Given the description of an element on the screen output the (x, y) to click on. 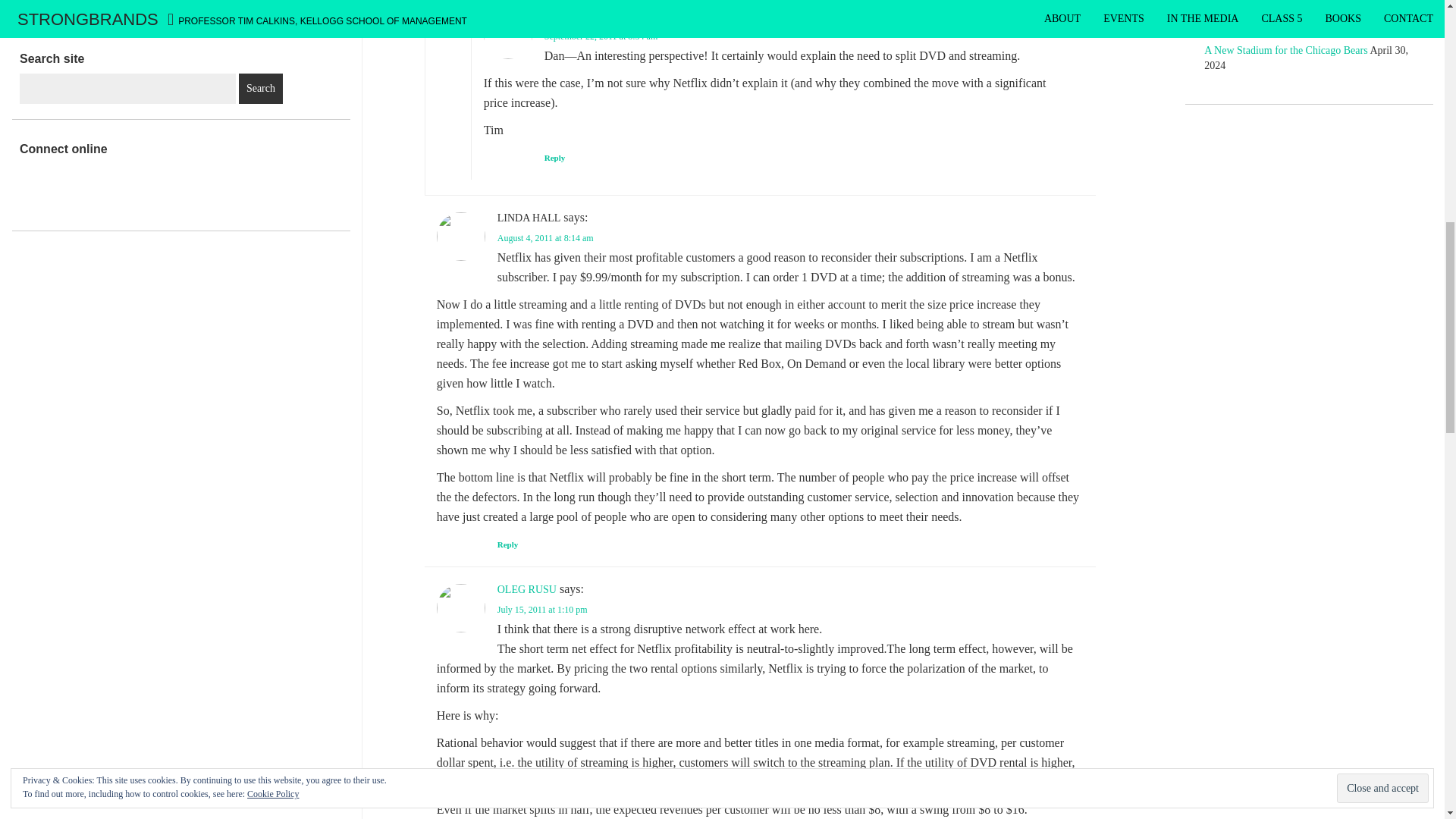
August 4, 2011 at 8:14 am (545, 237)
TIM CALKINS (578, 16)
Reply (507, 543)
Search (260, 88)
September 22, 2011 at 8:54 am (601, 36)
Reply (555, 157)
July 15, 2011 at 1:10 pm (542, 609)
OLEG RUSU (526, 589)
